Given the description of an element on the screen output the (x, y) to click on. 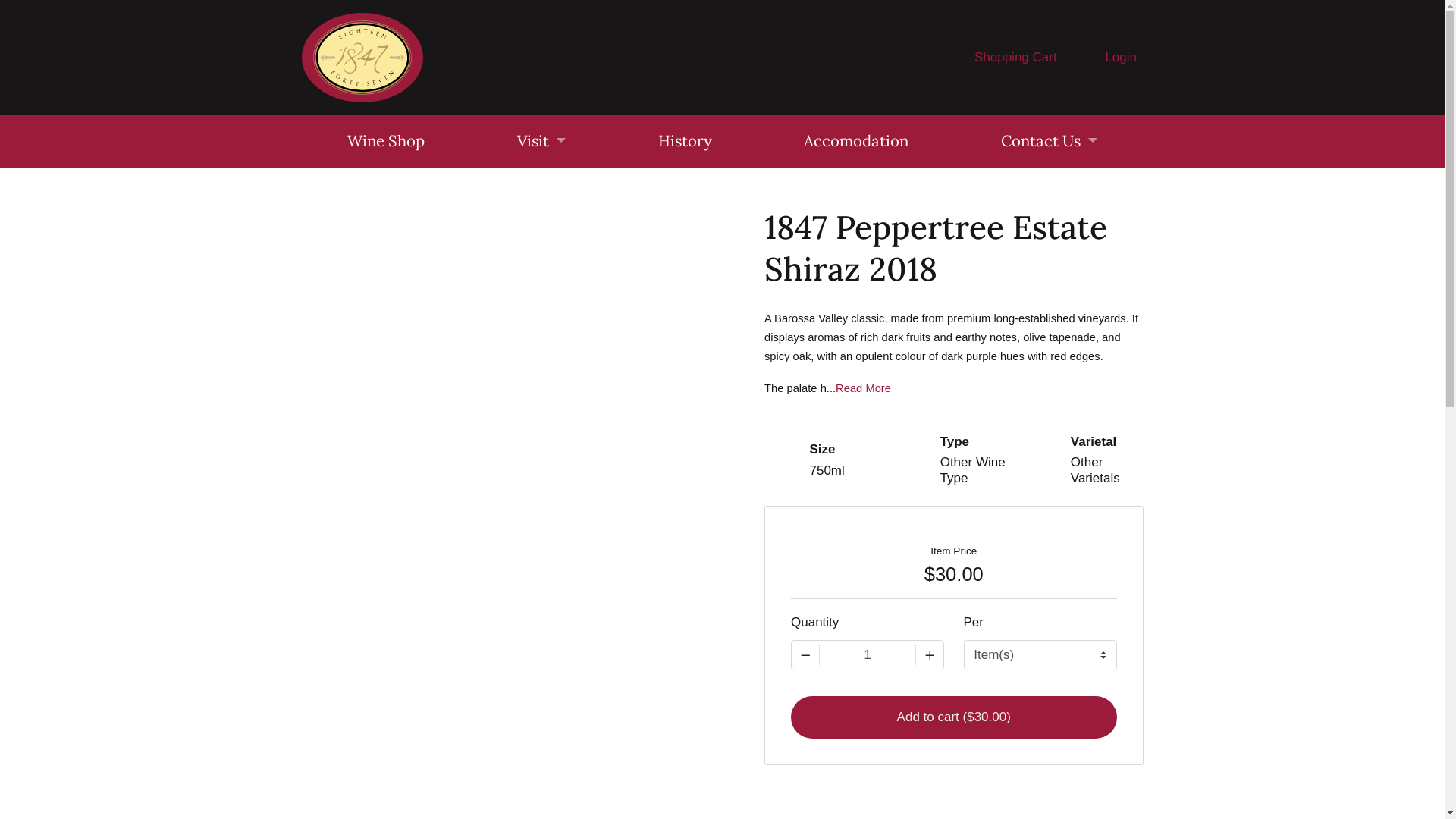
Contact Us Element type: text (1048, 141)
1847 Wines Logo Element type: hover (362, 57)
Shopping Cart Element type: text (997, 57)
History Element type: text (684, 141)
Accomodation Element type: text (855, 141)
Visit Element type: text (540, 141)
Add to cart ($30.00) Element type: text (953, 716)
Wine Shop Element type: text (386, 141)
Login Element type: text (1102, 57)
Read More Element type: text (863, 388)
